Given the description of an element on the screen output the (x, y) to click on. 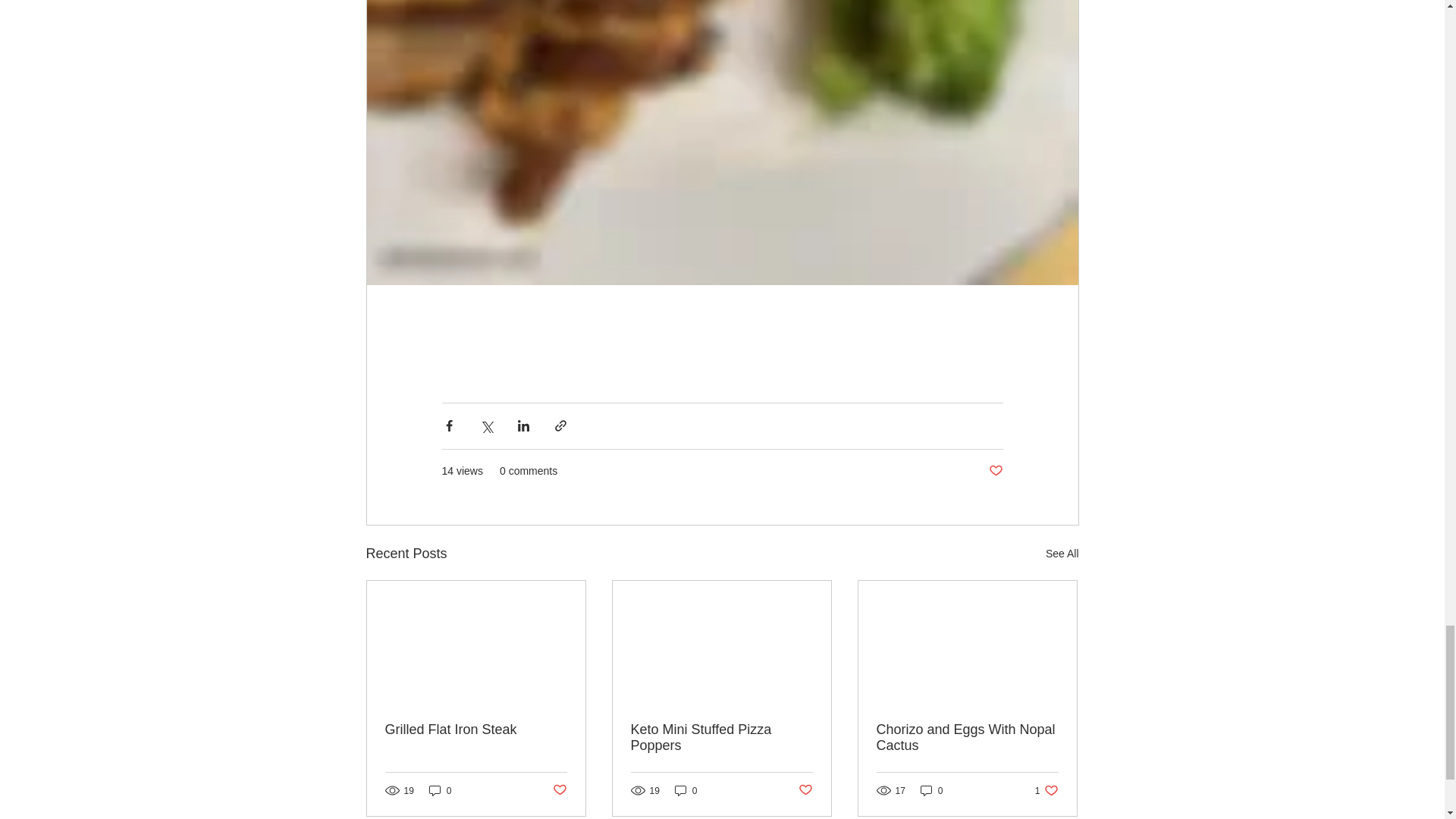
Post not marked as liked (995, 471)
0 (1046, 789)
Chorizo and Eggs With Nopal Cactus (440, 789)
See All (967, 737)
Grilled Flat Iron Steak (1061, 553)
Post not marked as liked (476, 729)
Keto Mini Stuffed Pizza Poppers (558, 790)
0 (721, 737)
Post not marked as liked (685, 789)
